Given the description of an element on the screen output the (x, y) to click on. 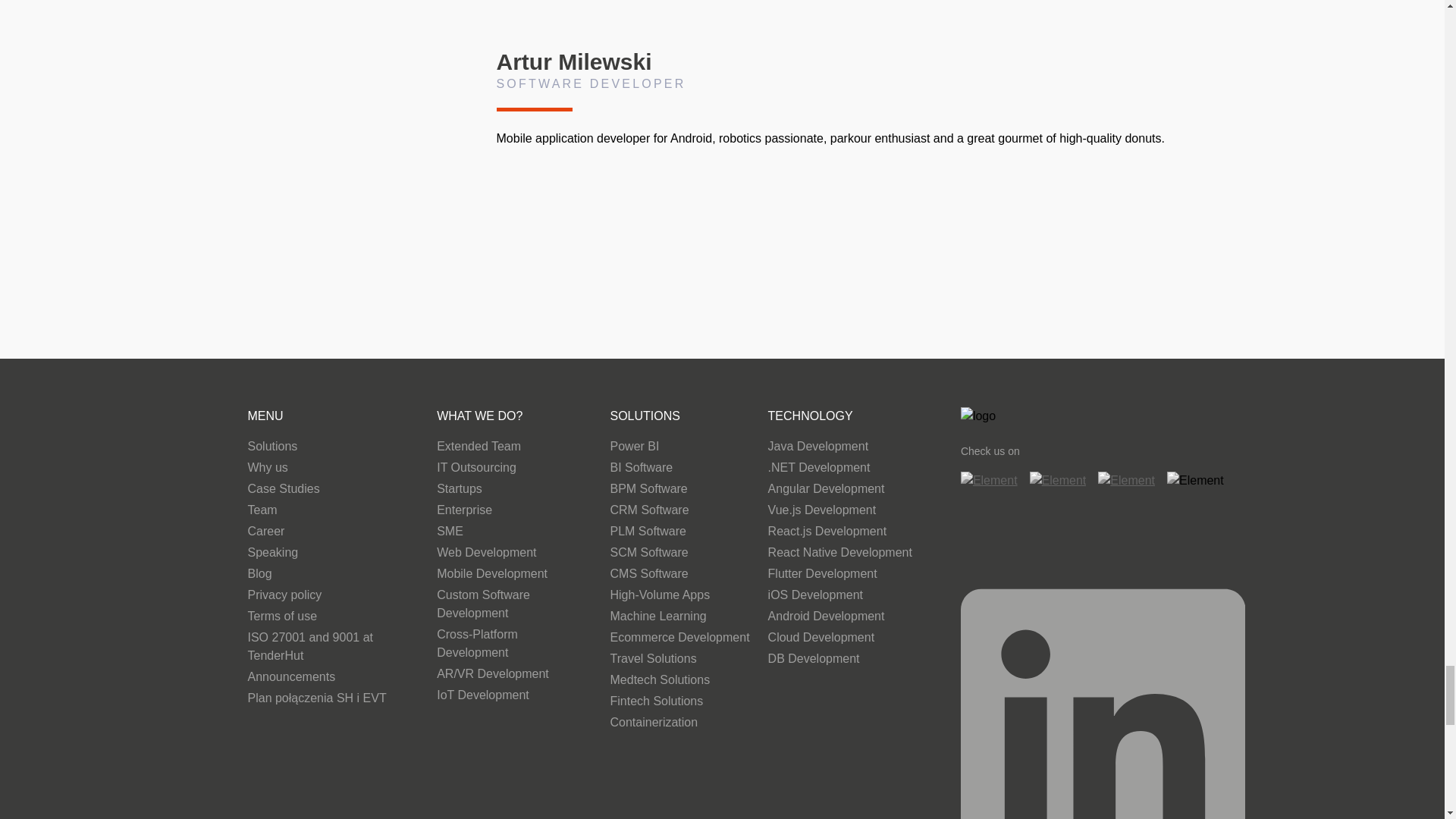
Privacy policy (333, 596)
Mobile Development (513, 575)
Startups (513, 490)
Custom Software Development (513, 605)
Team (333, 511)
Announcements (333, 678)
Case Studies (333, 490)
Enterprise (513, 511)
Power BI (679, 447)
Cross-Platform Development (513, 645)
Solutions (333, 447)
SME (513, 532)
Speaking (333, 554)
Terms of use (333, 617)
ISO 27001 and 9001 at TenderHut (333, 648)
